Given the description of an element on the screen output the (x, y) to click on. 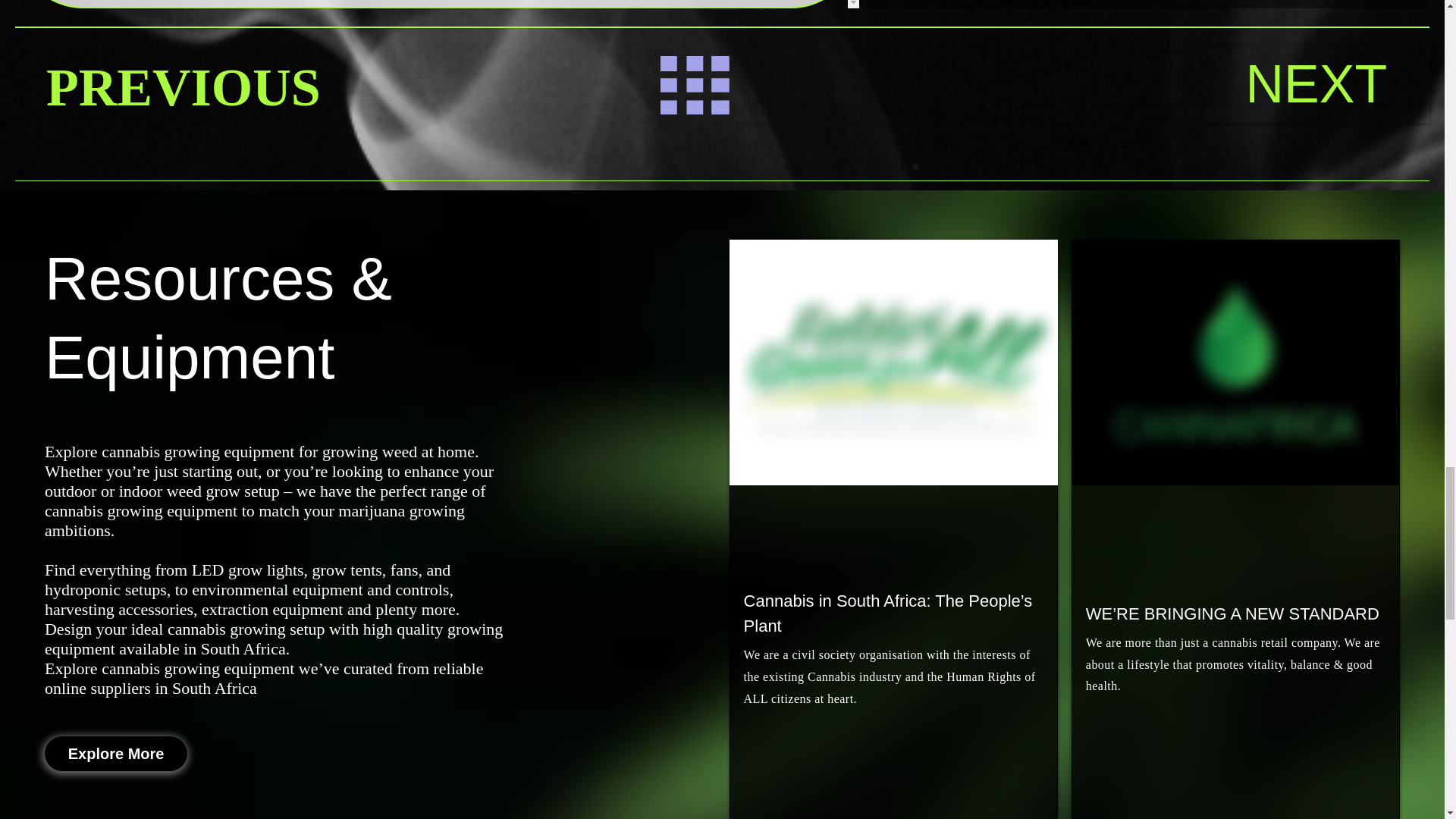
NEXT (1316, 83)
PREVIOUS (183, 87)
Explore More (116, 752)
